Given the description of an element on the screen output the (x, y) to click on. 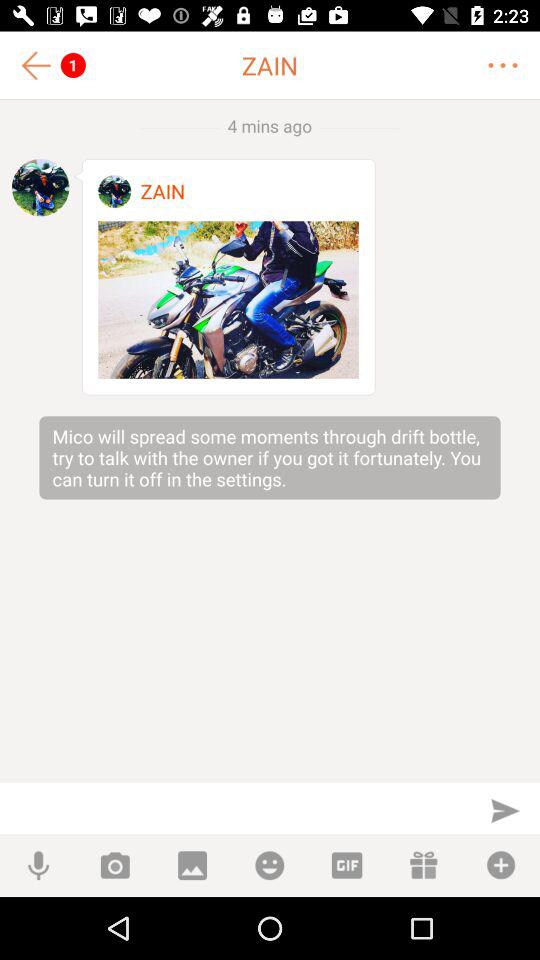
view profile picture (114, 191)
